Given the description of an element on the screen output the (x, y) to click on. 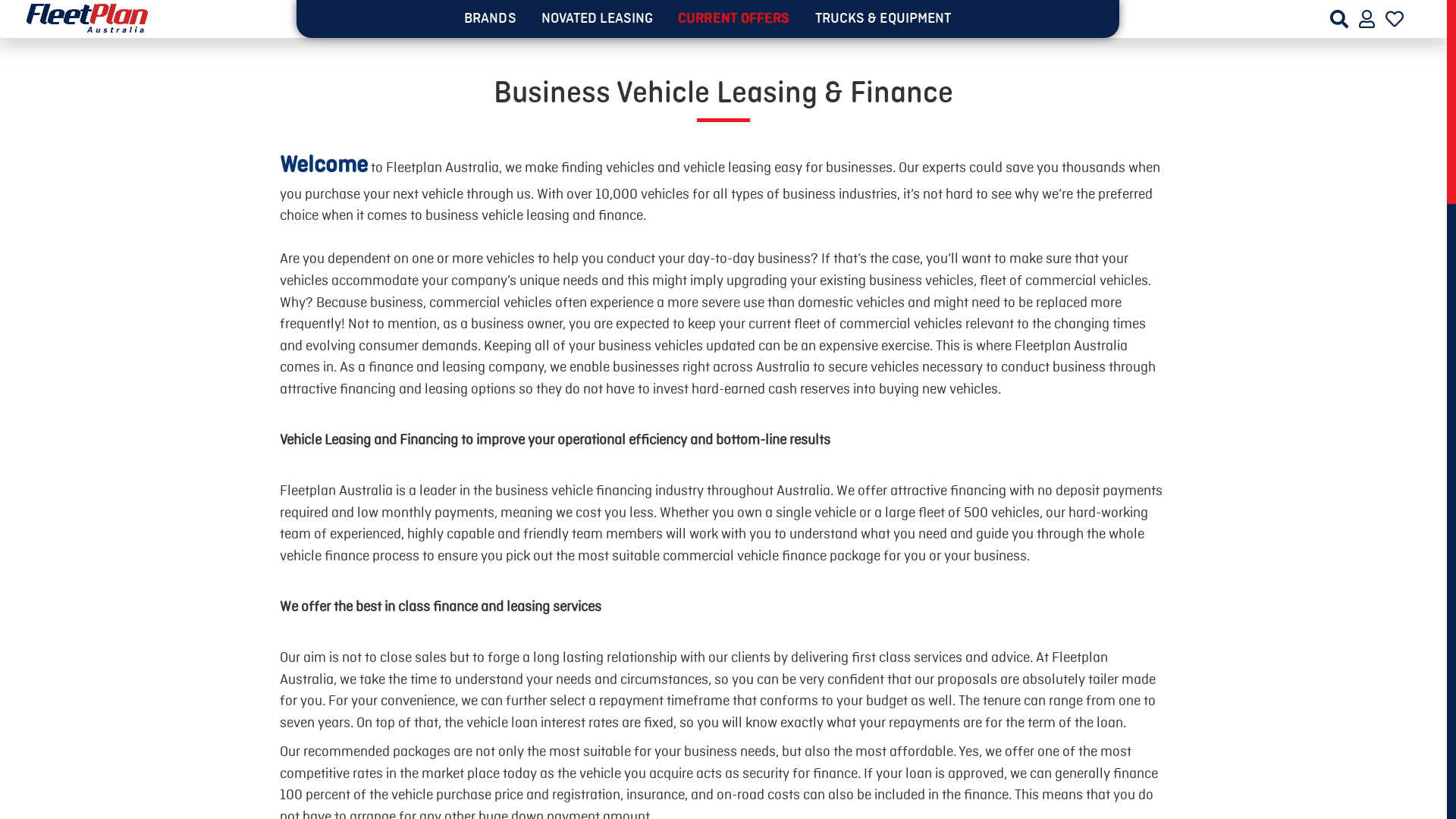
TRUCKS & EQUIPMENT Element type: text (883, 18)
CURRENT OFFERS Element type: text (733, 18)
NOVATED LEASING Element type: text (597, 18)
BRANDS Element type: text (490, 18)
